Given the description of an element on the screen output the (x, y) to click on. 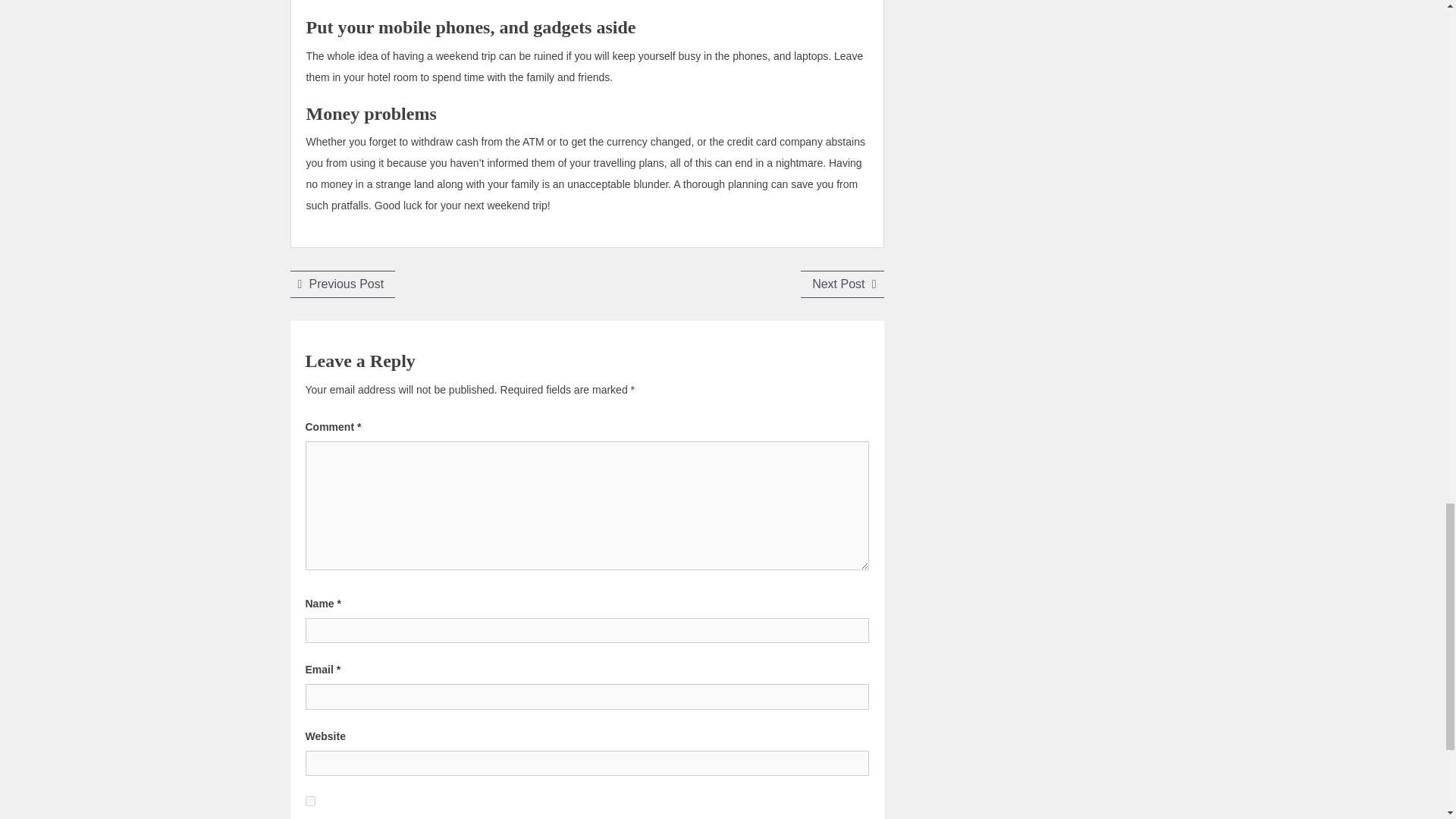
yes (341, 284)
